Given the description of an element on the screen output the (x, y) to click on. 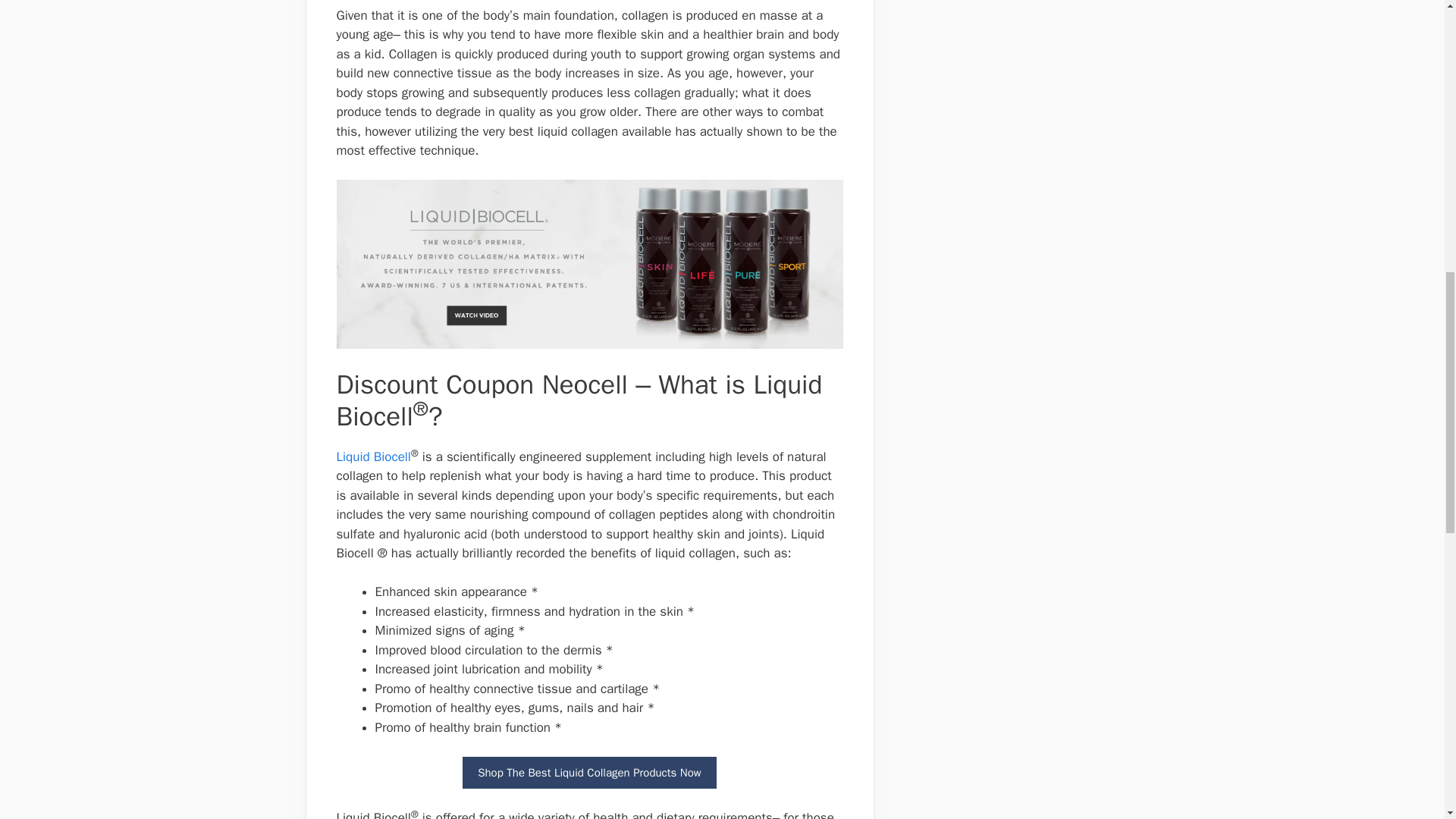
Liquid Biocell (373, 456)
Discount Coupon Neocell (589, 263)
Shop The Best Liquid Collagen Products Now (589, 772)
